Given the description of an element on the screen output the (x, y) to click on. 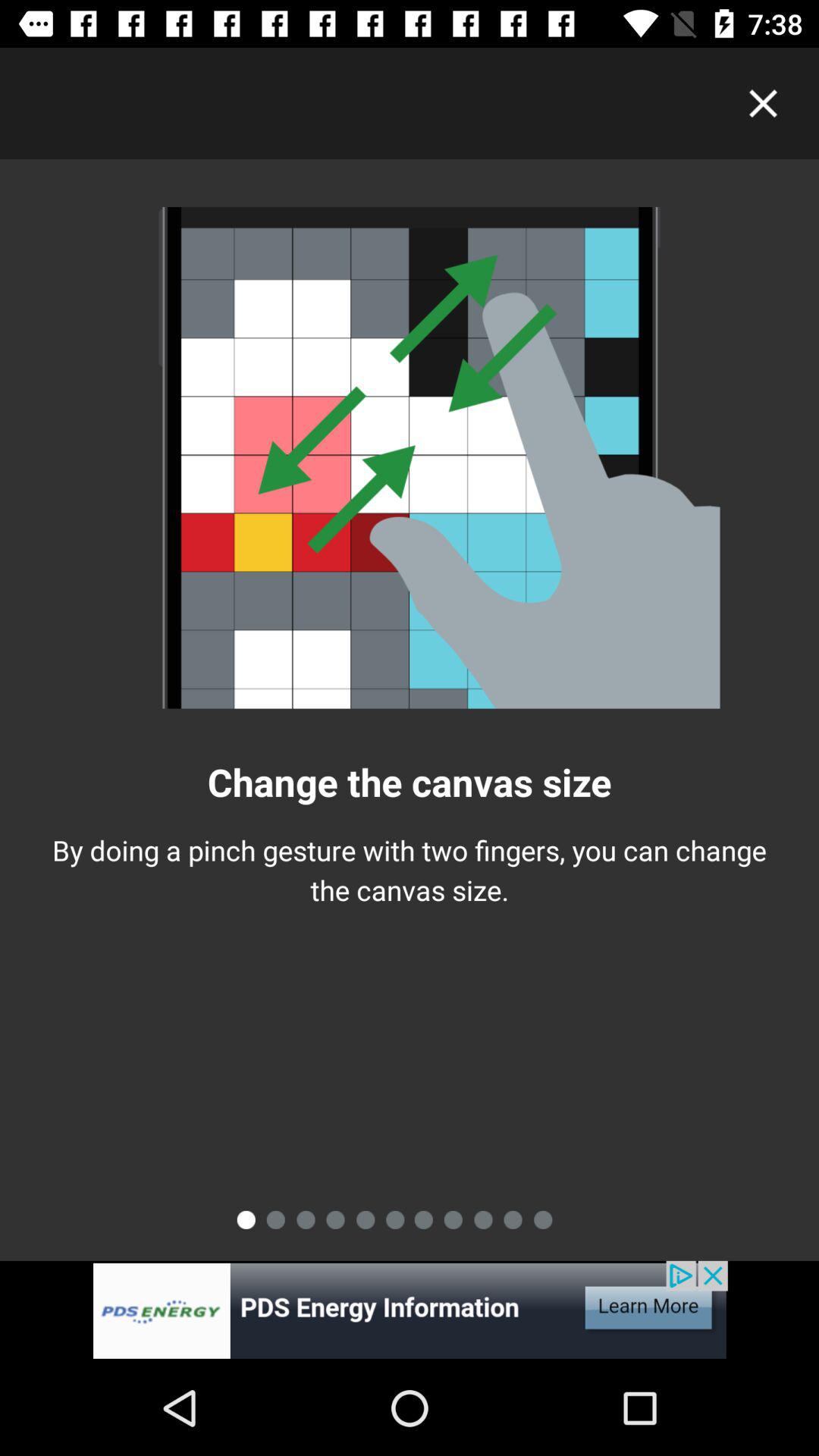
close (763, 103)
